Given the description of an element on the screen output the (x, y) to click on. 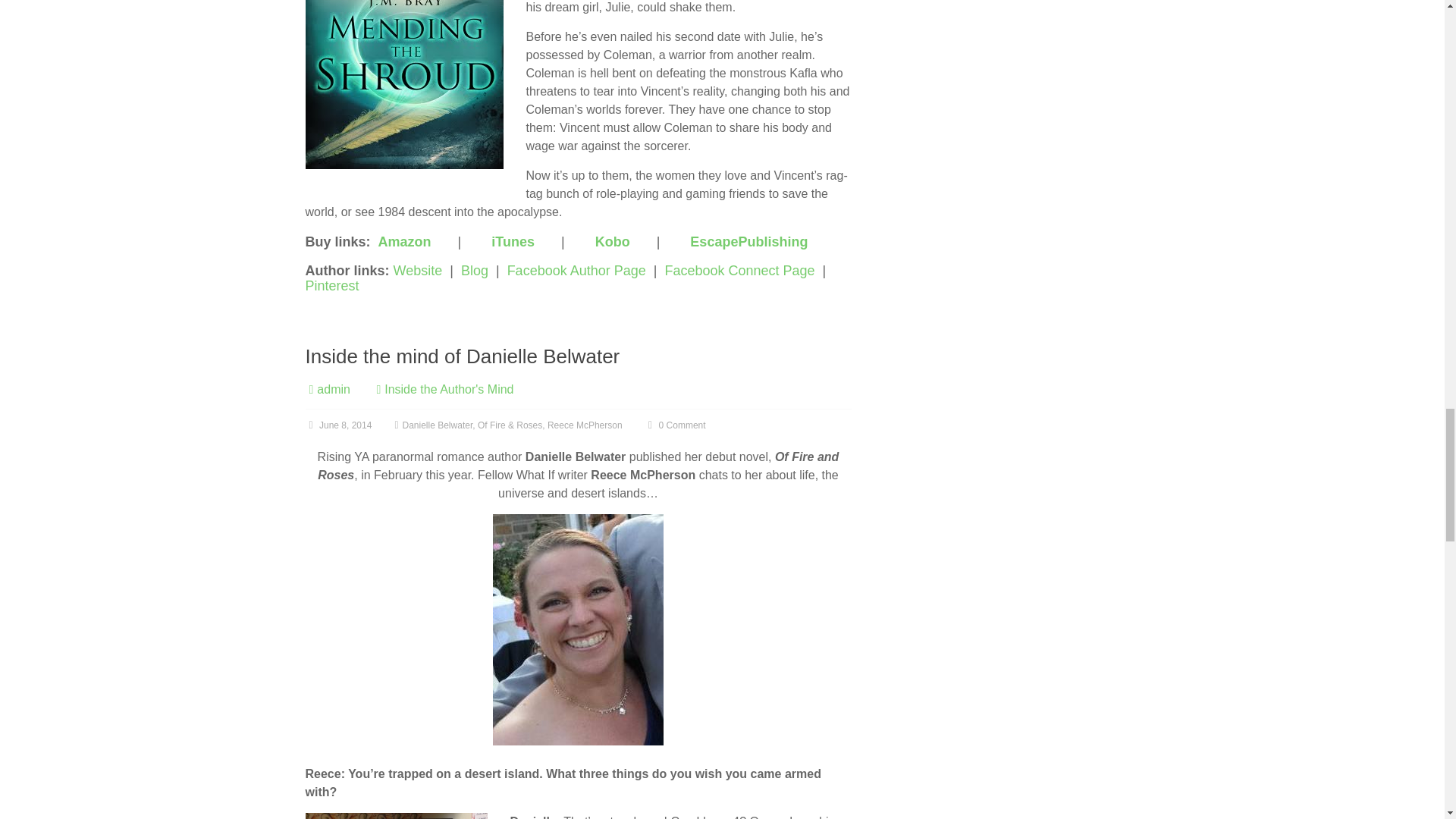
admin (333, 389)
Website (417, 270)
iTunes (513, 241)
Inside the mind of Danielle Belwater (462, 355)
9:57 am (337, 425)
Amazon (404, 241)
Kobo (612, 241)
EscapePublishing (749, 241)
